Given the description of an element on the screen output the (x, y) to click on. 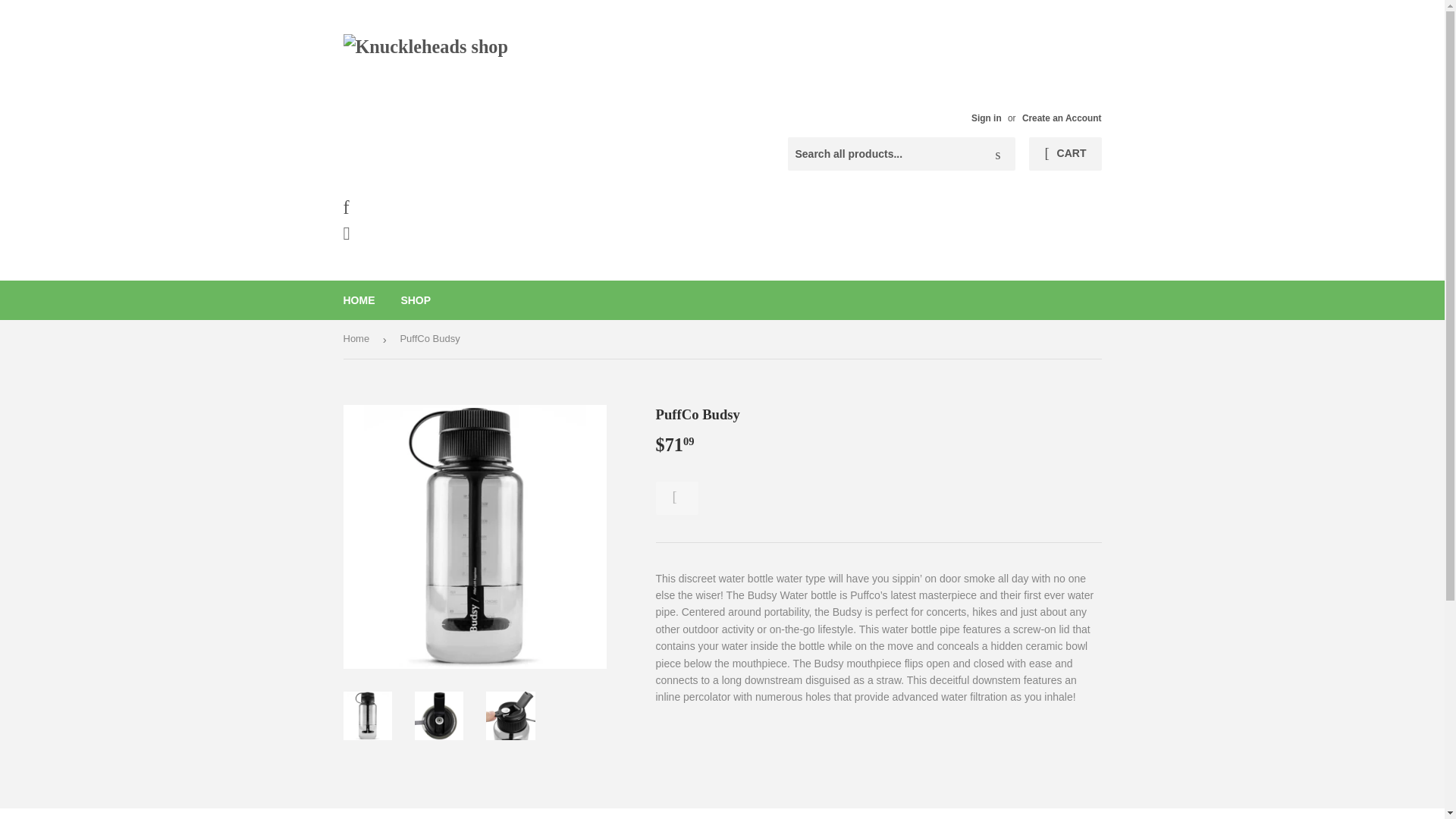
SHOP (415, 300)
Search (997, 154)
Sign in (986, 118)
Knuckleheads shop on Facebook (457, 207)
Knuckleheads shop on Instagram (457, 233)
CART (1064, 153)
Instagram (457, 233)
Facebook (457, 207)
Create an Account (1062, 118)
HOME (359, 300)
